Given the description of an element on the screen output the (x, y) to click on. 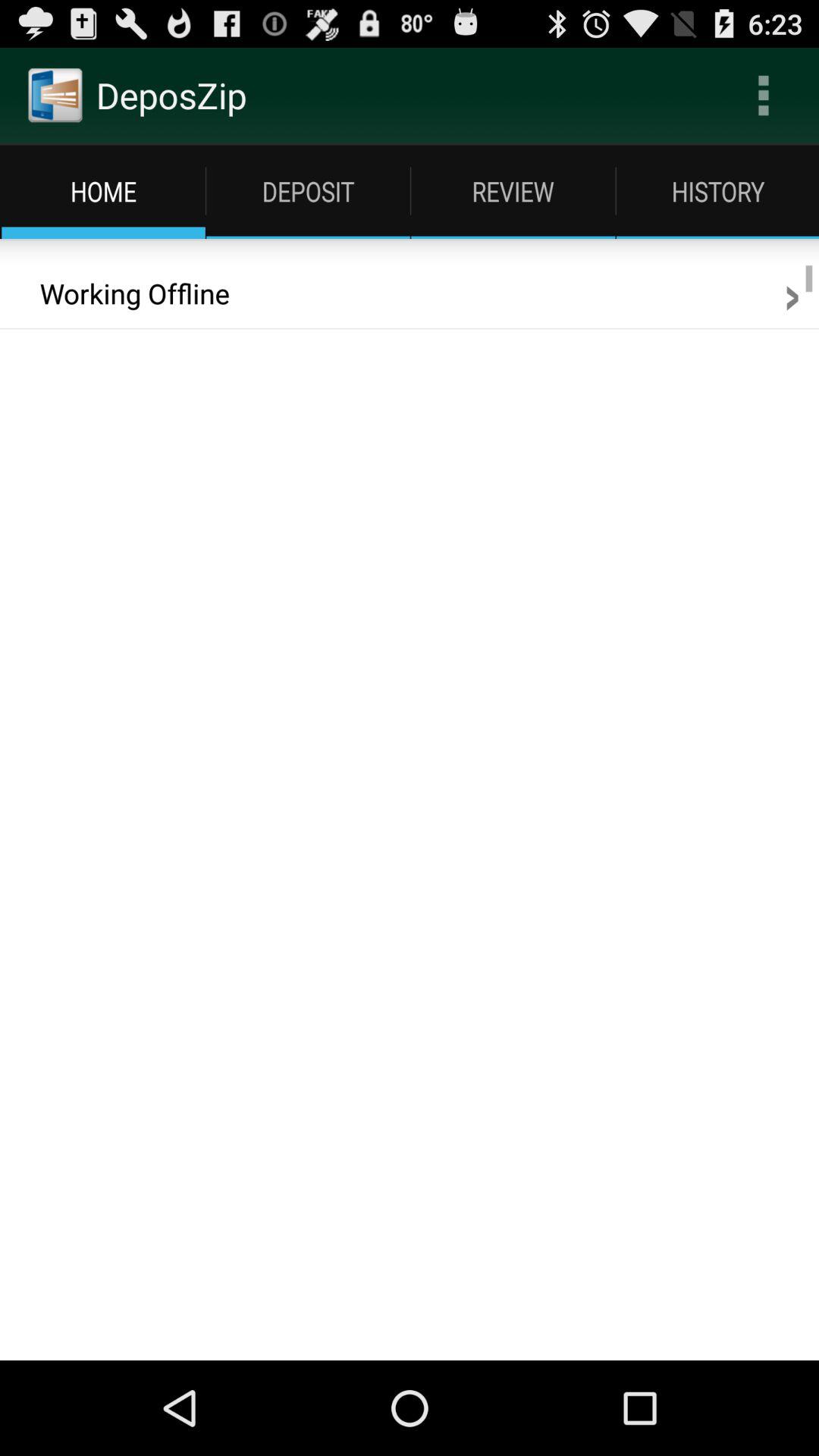
turn off > icon (792, 293)
